Given the description of an element on the screen output the (x, y) to click on. 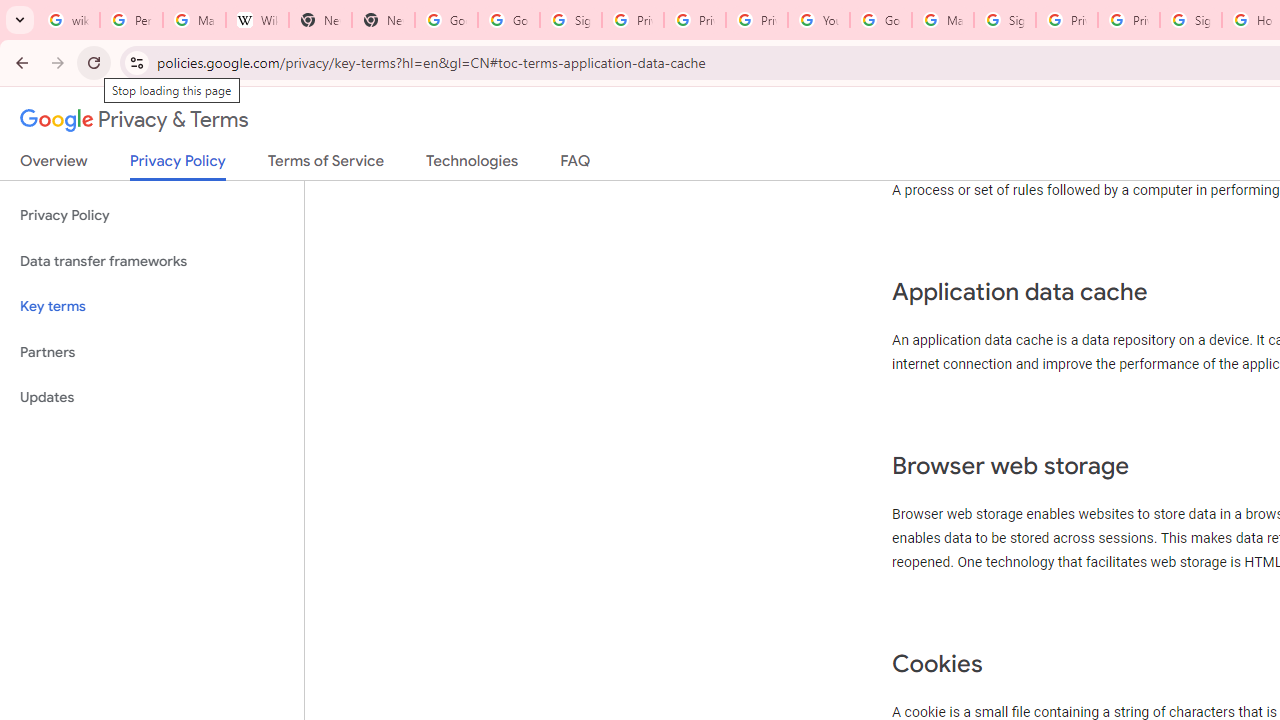
Sign in - Google Accounts (1190, 20)
Sign in - Google Accounts (570, 20)
